Given the description of an element on the screen output the (x, y) to click on. 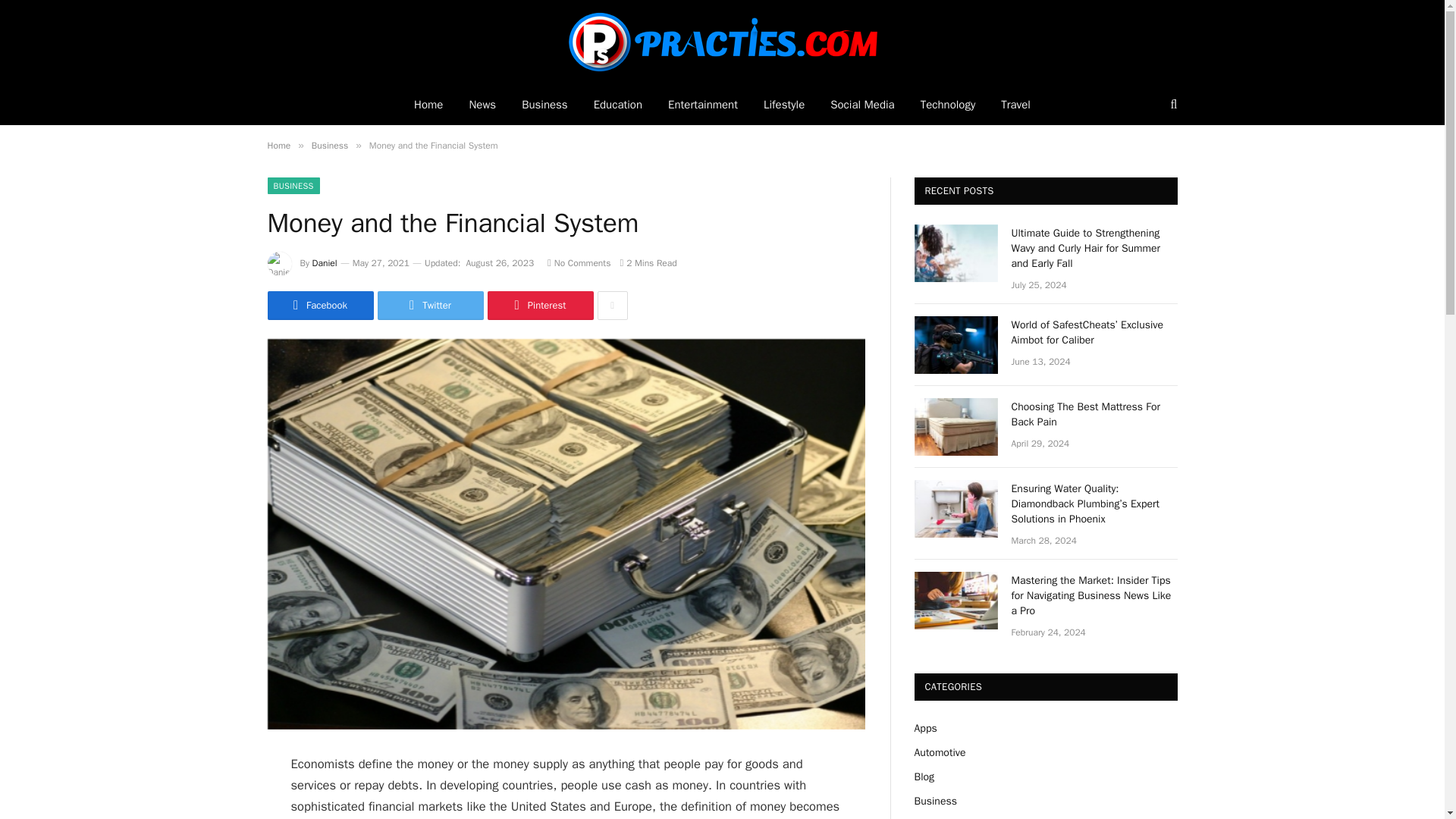
Education (617, 104)
Twitter (430, 305)
Share on Facebook (319, 305)
Facebook (319, 305)
Technology (947, 104)
Daniel (325, 263)
News (481, 104)
Home (277, 145)
Travel (1015, 104)
BUSINESS (292, 185)
Social Media (861, 104)
Share on Pinterest (539, 305)
Business (329, 145)
Practies (722, 42)
